Given the description of an element on the screen output the (x, y) to click on. 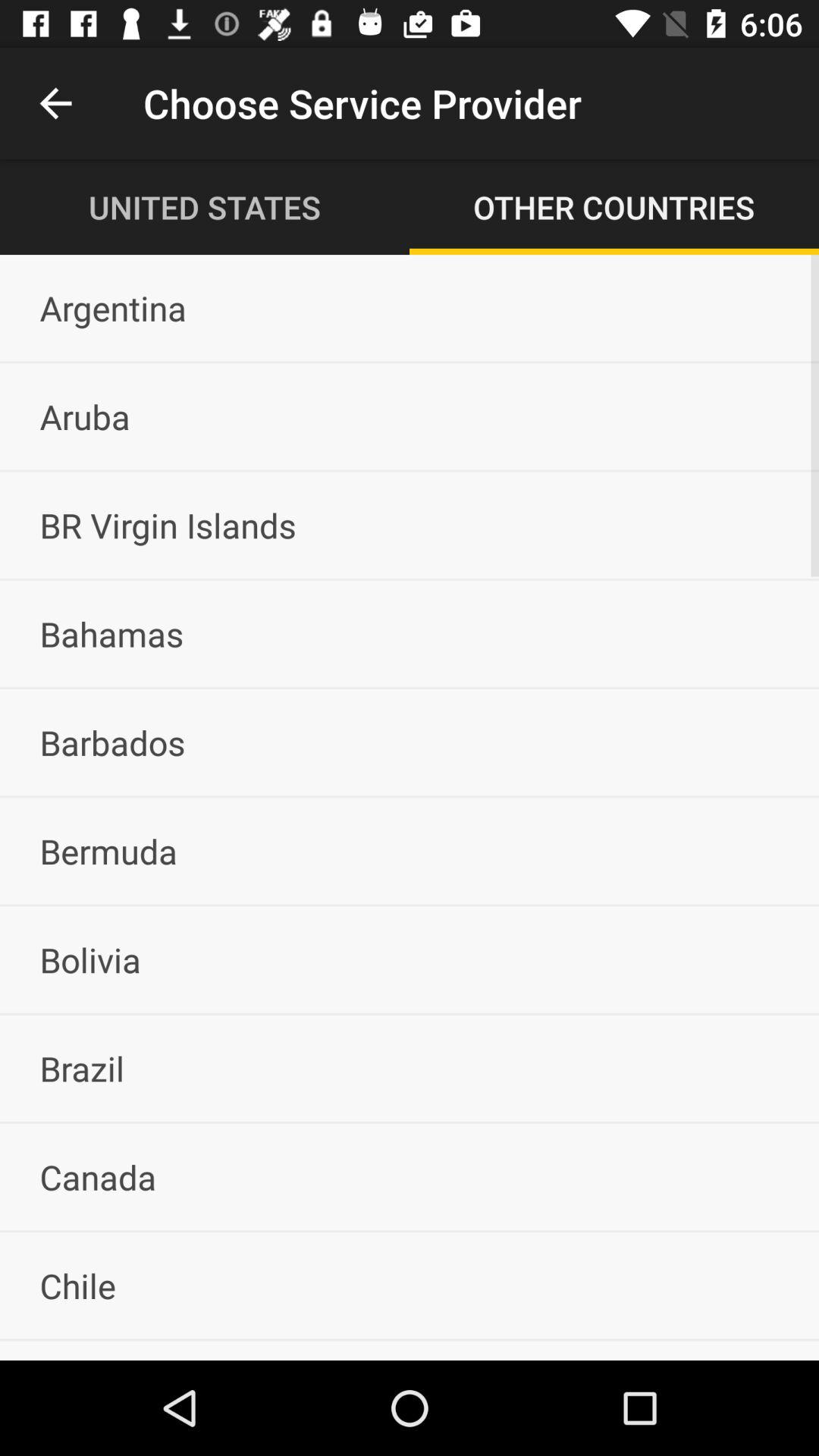
swipe to br virgin islands (409, 524)
